Given the description of an element on the screen output the (x, y) to click on. 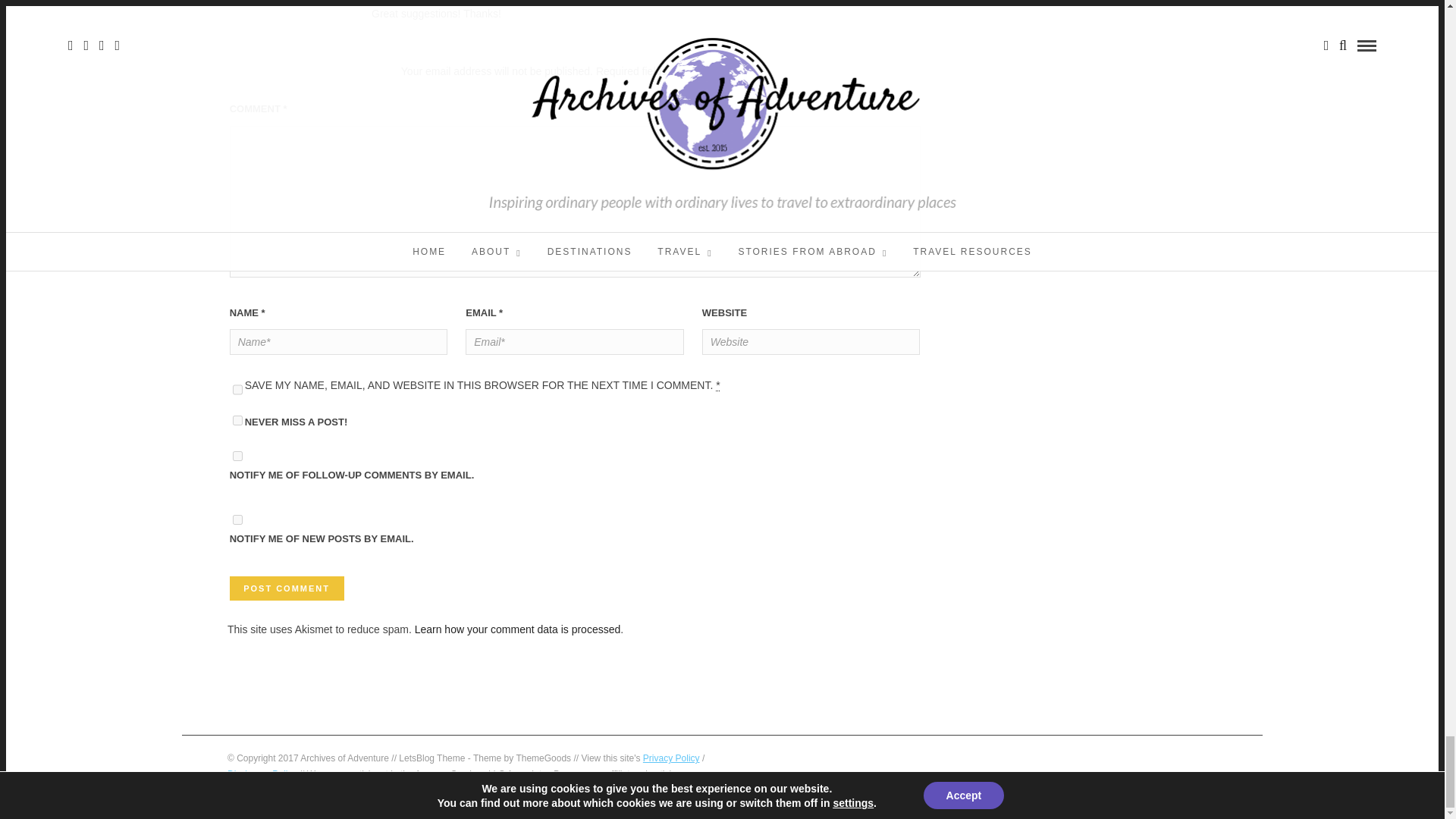
1 (237, 420)
subscribe (237, 519)
Post Comment (286, 588)
subscribe (237, 456)
